Given the description of an element on the screen output the (x, y) to click on. 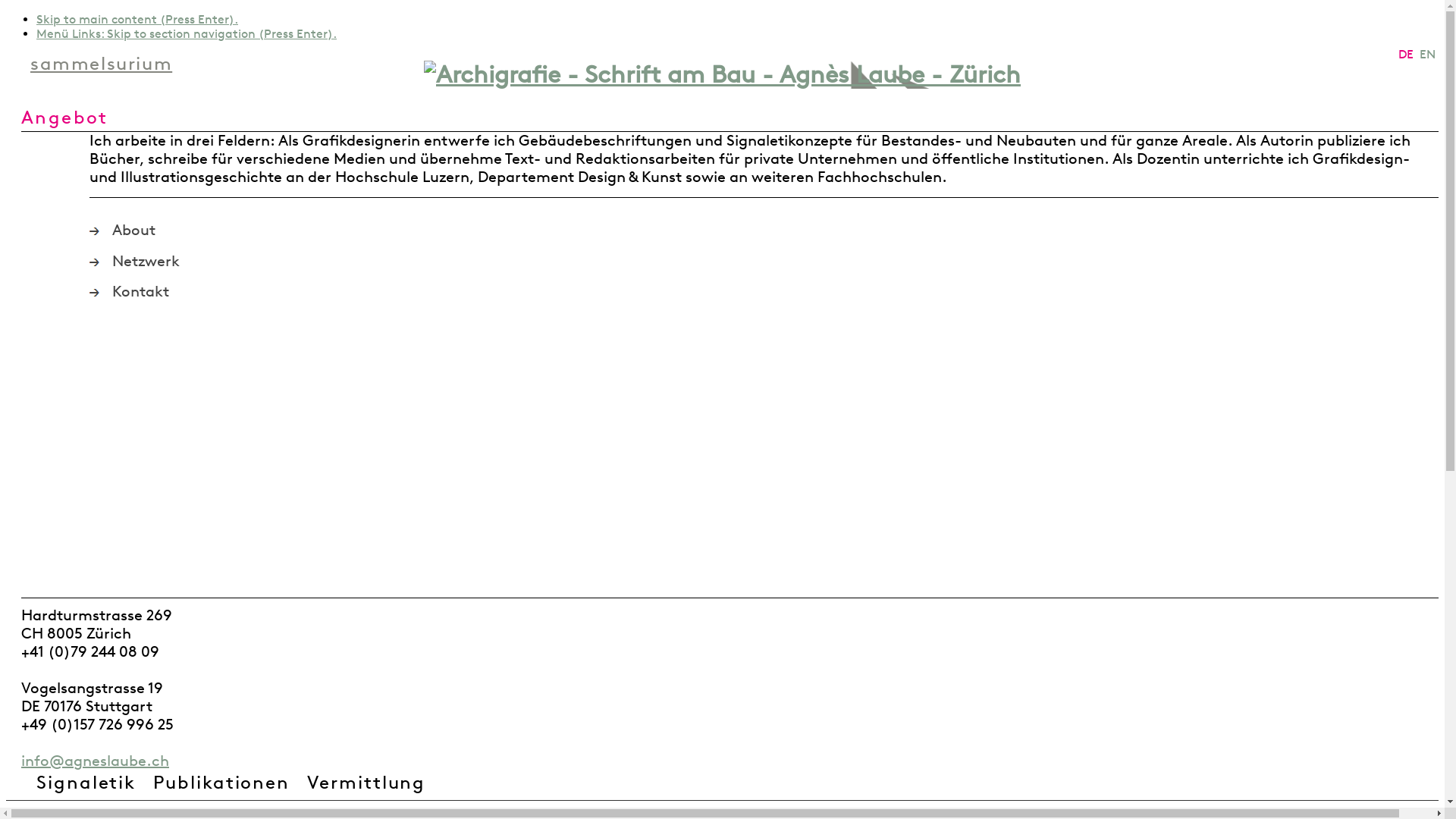
Netzwerk Element type: text (738, 261)
Publikationen Element type: text (228, 784)
Vermittlung Element type: text (373, 784)
DE Element type: text (1407, 54)
Skip to main content (Press Enter). Element type: text (137, 19)
Kontakt Element type: text (738, 291)
EN Element type: text (1427, 54)
Signaletik Element type: text (93, 784)
sammelsurium Element type: text (101, 63)
About Element type: text (738, 230)
